Given the description of an element on the screen output the (x, y) to click on. 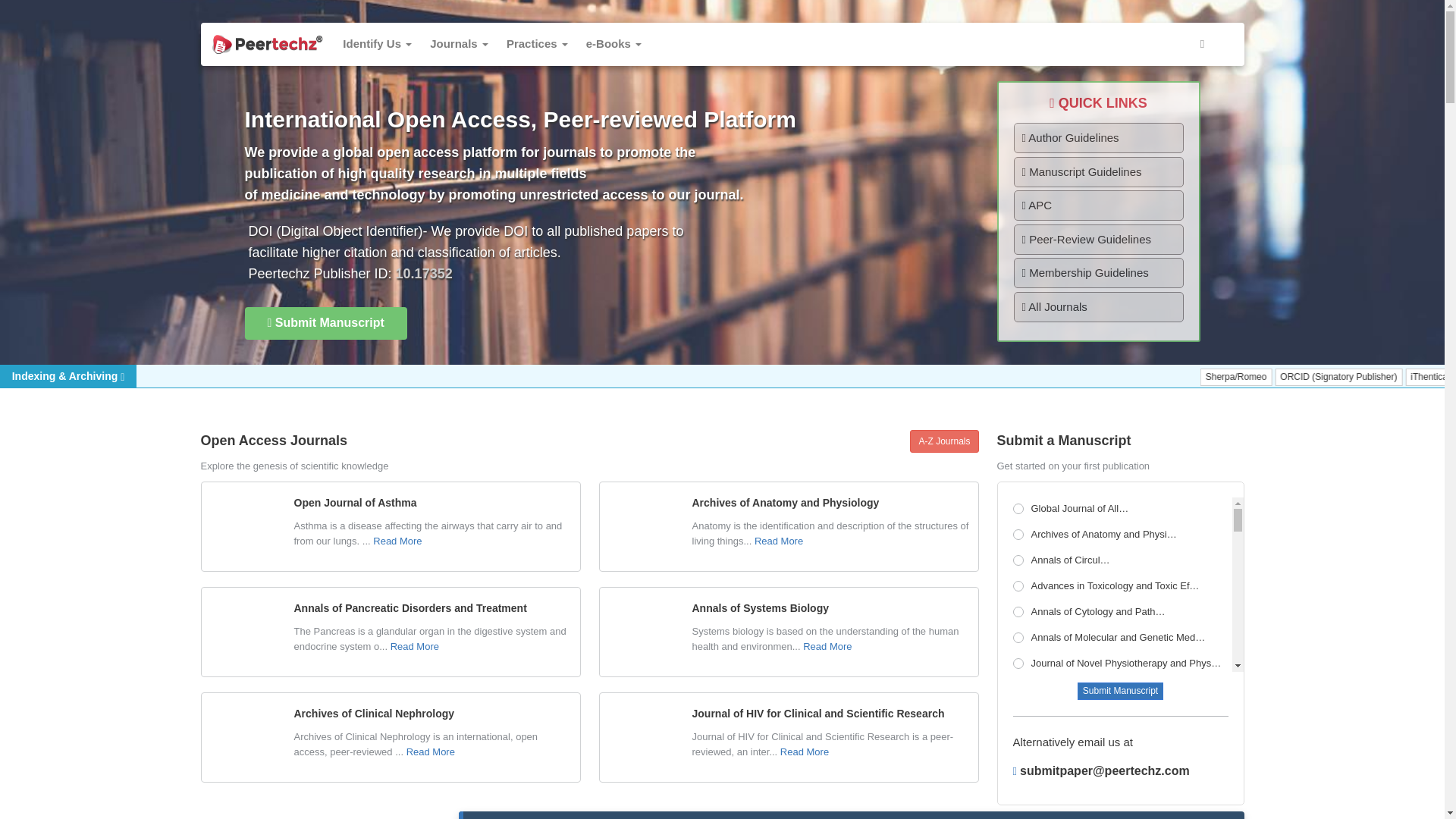
e-Books (613, 43)
Journal of Novel Physiotherapy and Physical Rehabilitation (1122, 664)
Archives of Clinical Gastroenterology (1122, 813)
Identify Us (376, 43)
Advances in Toxicology and Toxic Effects (1122, 587)
Archives of Nursing Practice and Care (1122, 690)
Peertechz Publications (266, 44)
Archives of Sports Medicine and Physiotherapy (1122, 742)
Annals of Circulation (1122, 561)
Rheumatica Acta: Open Access (1122, 716)
